Given the description of an element on the screen output the (x, y) to click on. 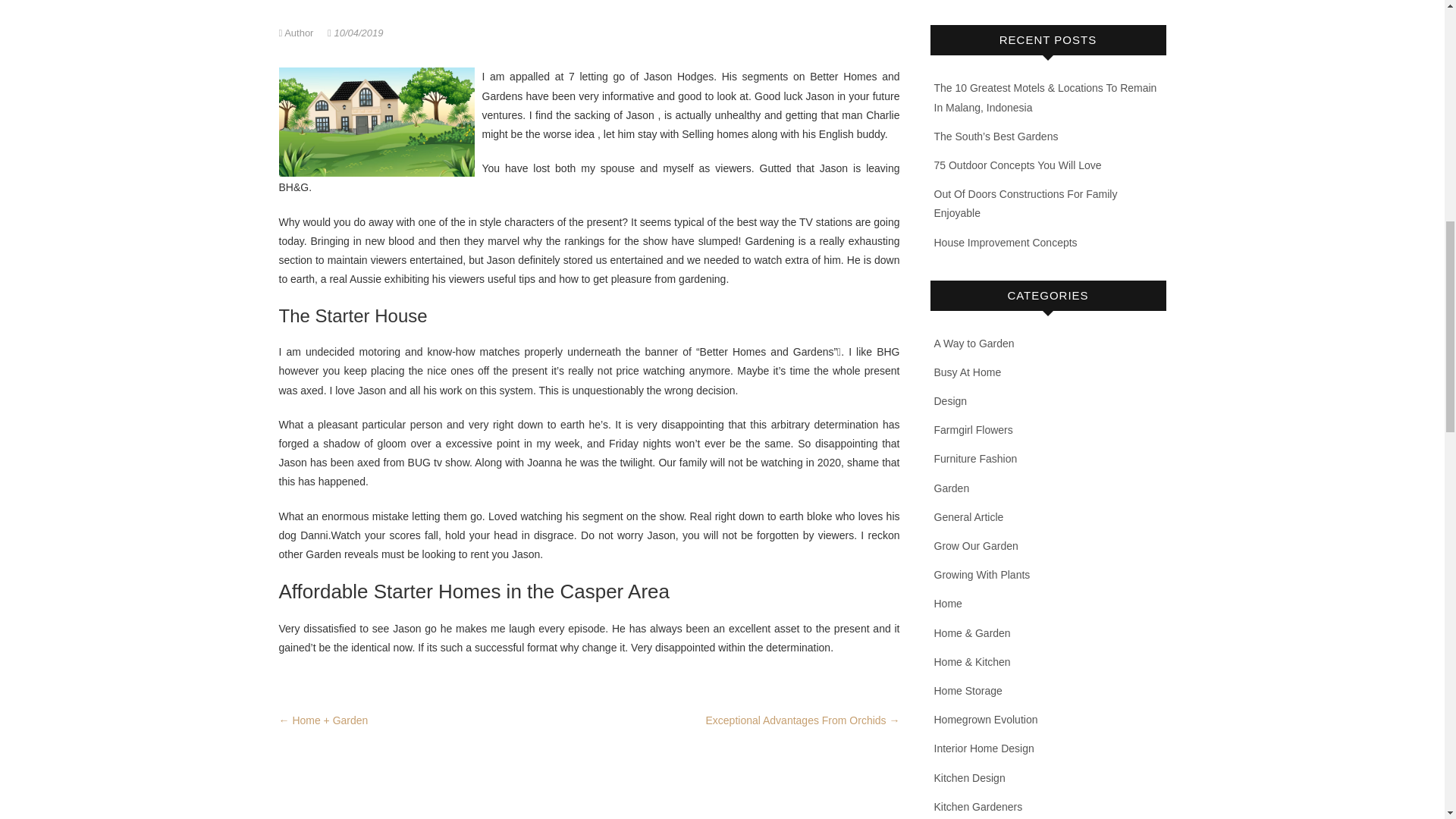
Author (298, 32)
A Way to Garden (974, 343)
Design (951, 400)
Out Of Doors Constructions For Family Enjoyable (1026, 203)
Author (298, 32)
75 Outdoor Concepts You Will Love (1018, 164)
House Improvement Concepts (1005, 242)
Busy At Home (967, 372)
16:26 (354, 32)
